Given the description of an element on the screen output the (x, y) to click on. 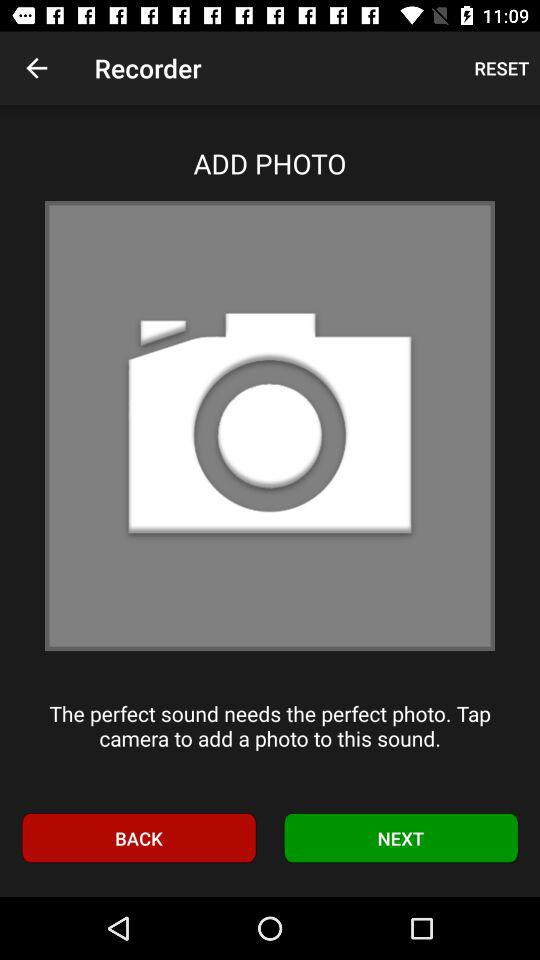
swipe to next (401, 838)
